Given the description of an element on the screen output the (x, y) to click on. 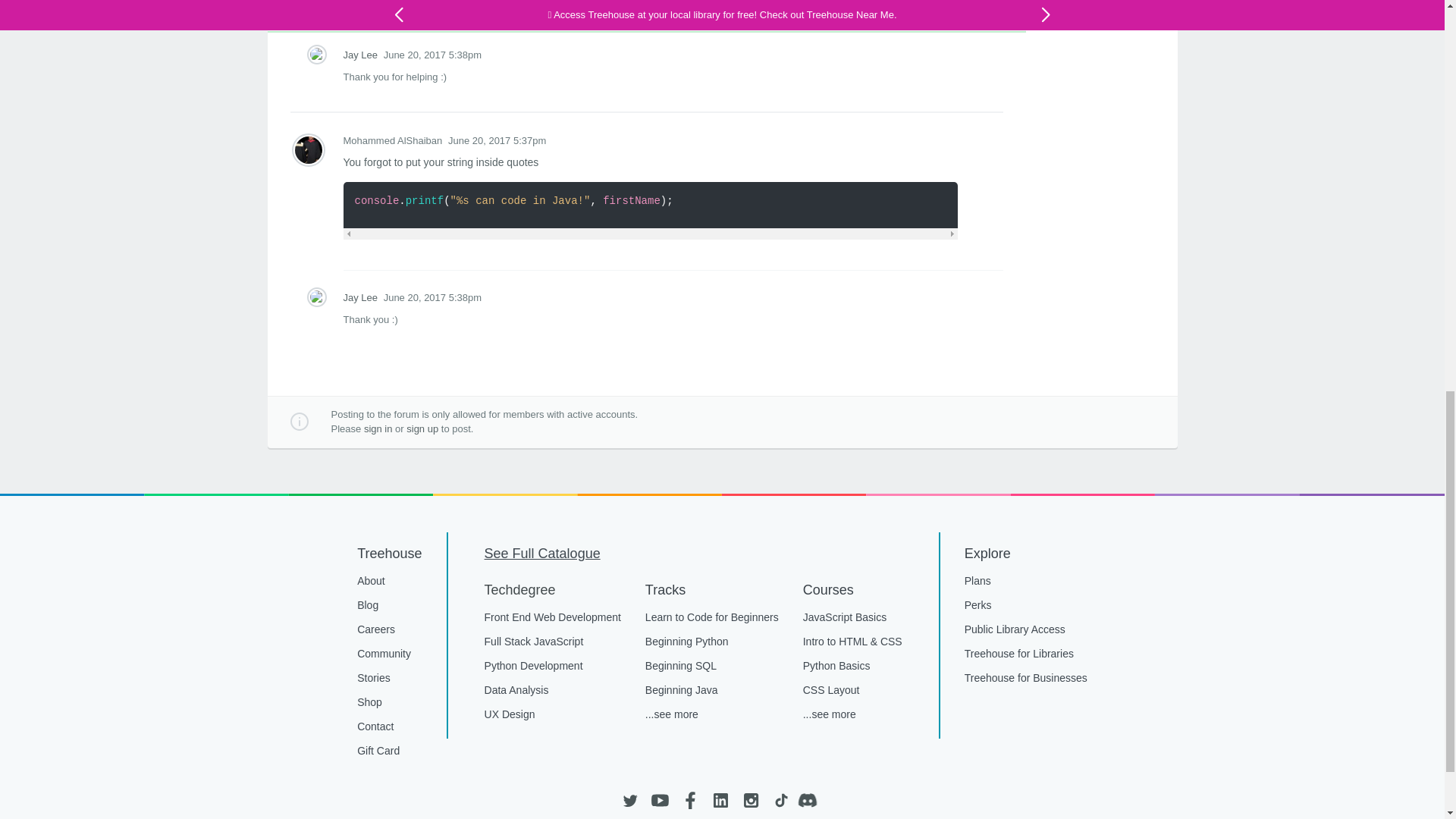
Facebook (690, 800)
Facebook (690, 800)
Twitter (628, 800)
Discord (810, 800)
Twitter (628, 800)
LinkedIn (719, 800)
TikTok (780, 800)
Instagram (749, 800)
YouTube (659, 800)
YouTube (659, 800)
